Given the description of an element on the screen output the (x, y) to click on. 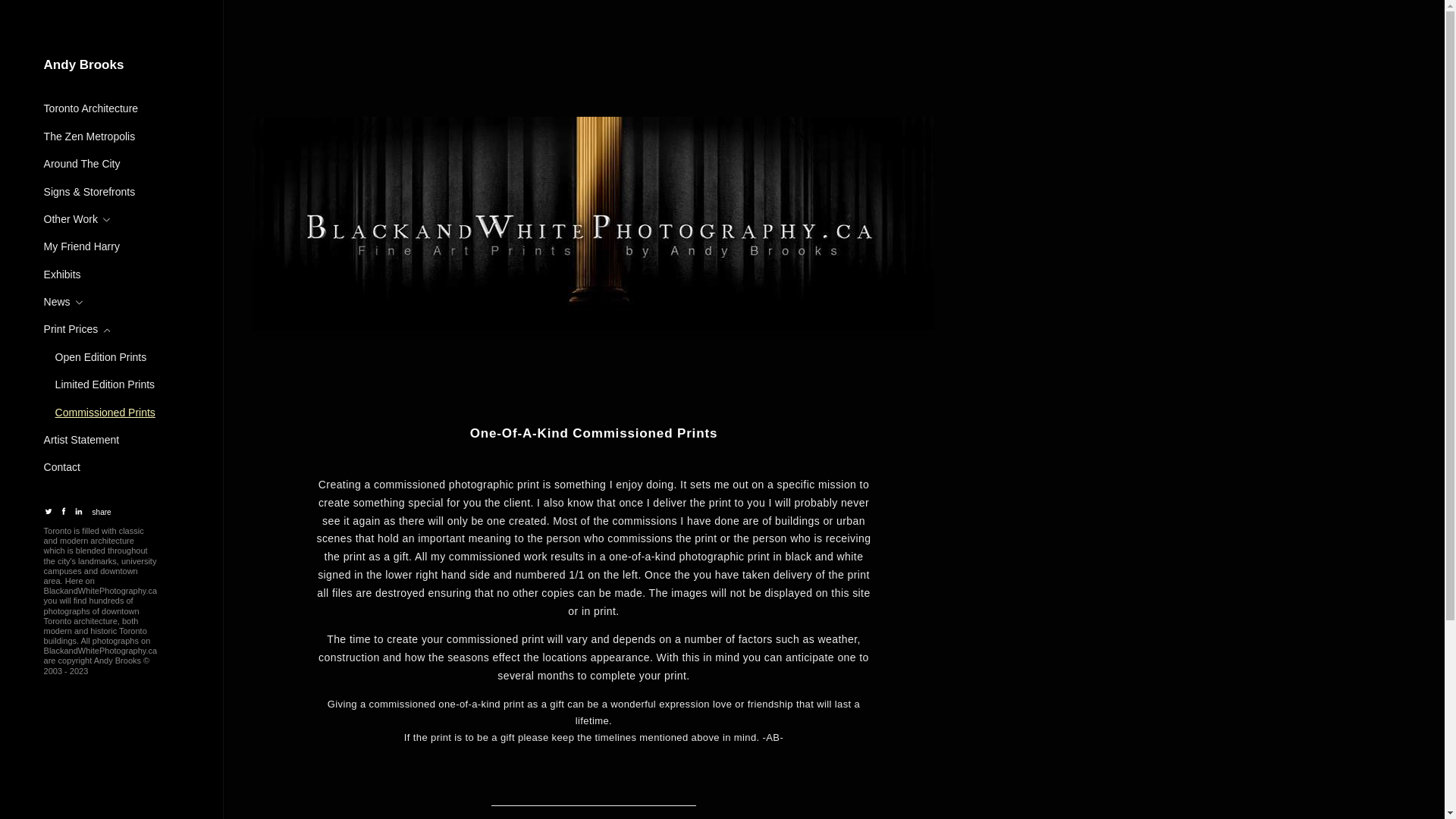
News Element type: text (65, 301)
Commissioned Prints Element type: text (107, 412)
Exhibits Element type: text (64, 274)
Open Edition Prints Element type: text (102, 356)
Andy Brooks Element type: text (110, 64)
Contact Element type: text (63, 467)
Other Work Element type: text (79, 218)
Artist Statement Element type: text (83, 439)
Print Prices Element type: text (79, 329)
Limited Edition Prints Element type: text (107, 384)
share Element type: text (101, 511)
Toronto Architecture Element type: text (92, 108)
Around The City Element type: text (84, 164)
Signs & Storefronts Element type: text (91, 191)
My Friend Harry Element type: text (83, 246)
The Zen Metropolis Element type: text (91, 136)
